Given the description of an element on the screen output the (x, y) to click on. 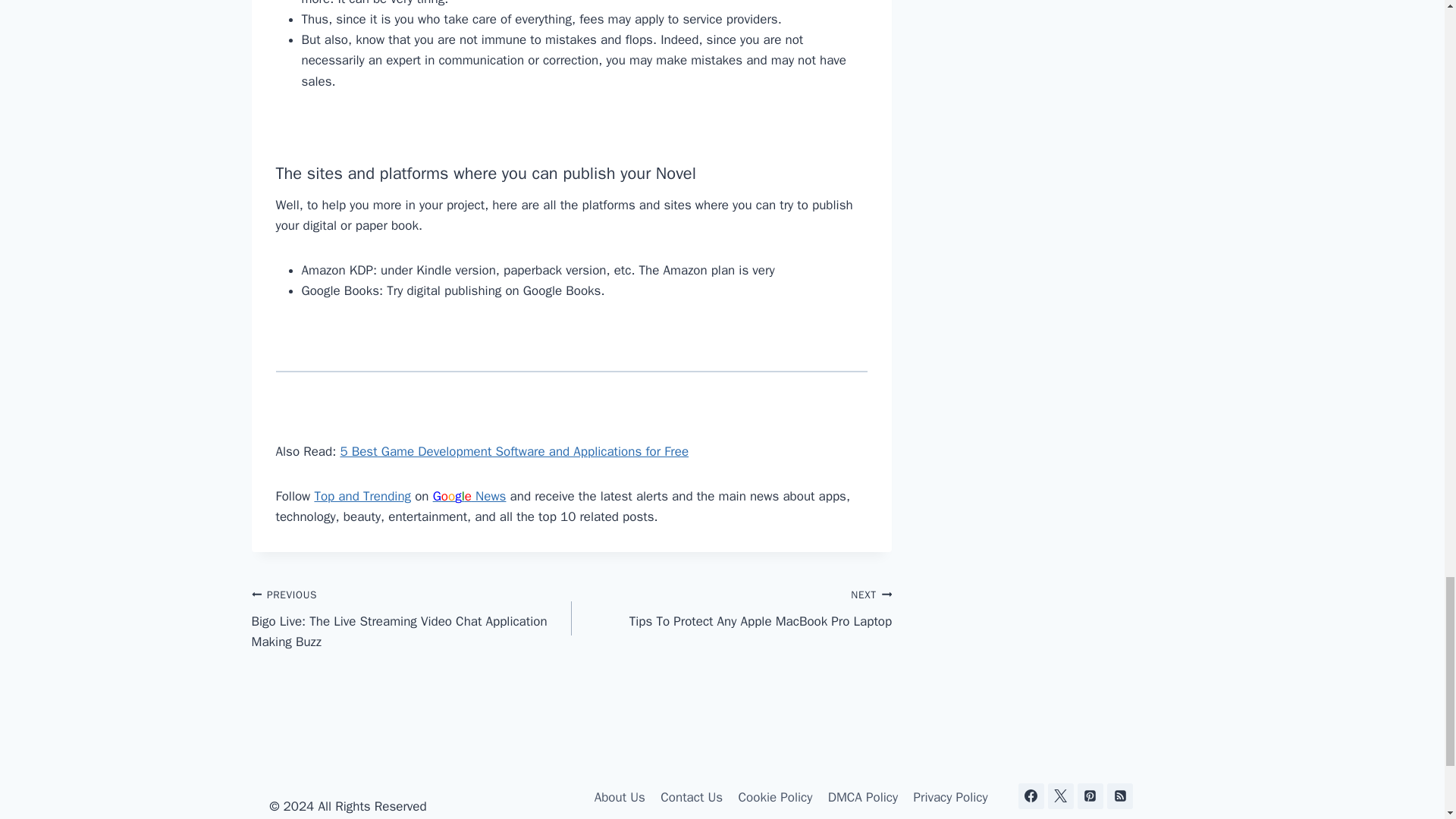
Google News (469, 496)
About Us (619, 796)
Top and Trending (362, 496)
5 Best Game Development Software and Applications for Free (731, 607)
